Given the description of an element on the screen output the (x, y) to click on. 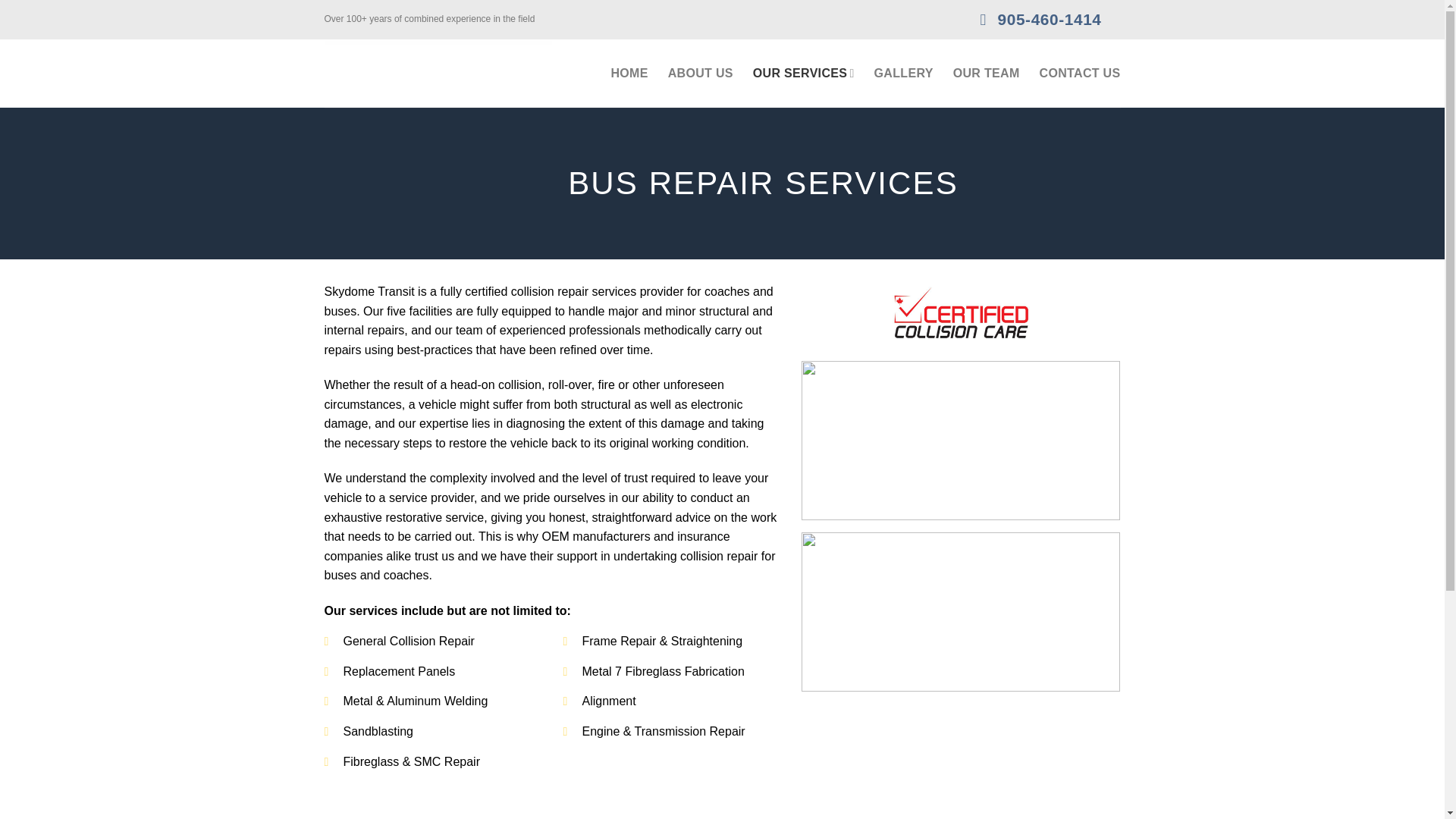
905-460-1414 (1042, 19)
ABOUT US (700, 73)
CONTACT US (1080, 73)
OUR TEAM (986, 73)
OUR SERVICES (803, 73)
GALLERY (904, 73)
HOME (628, 73)
Skydome Transit Services Inc. (437, 73)
